Given the description of an element on the screen output the (x, y) to click on. 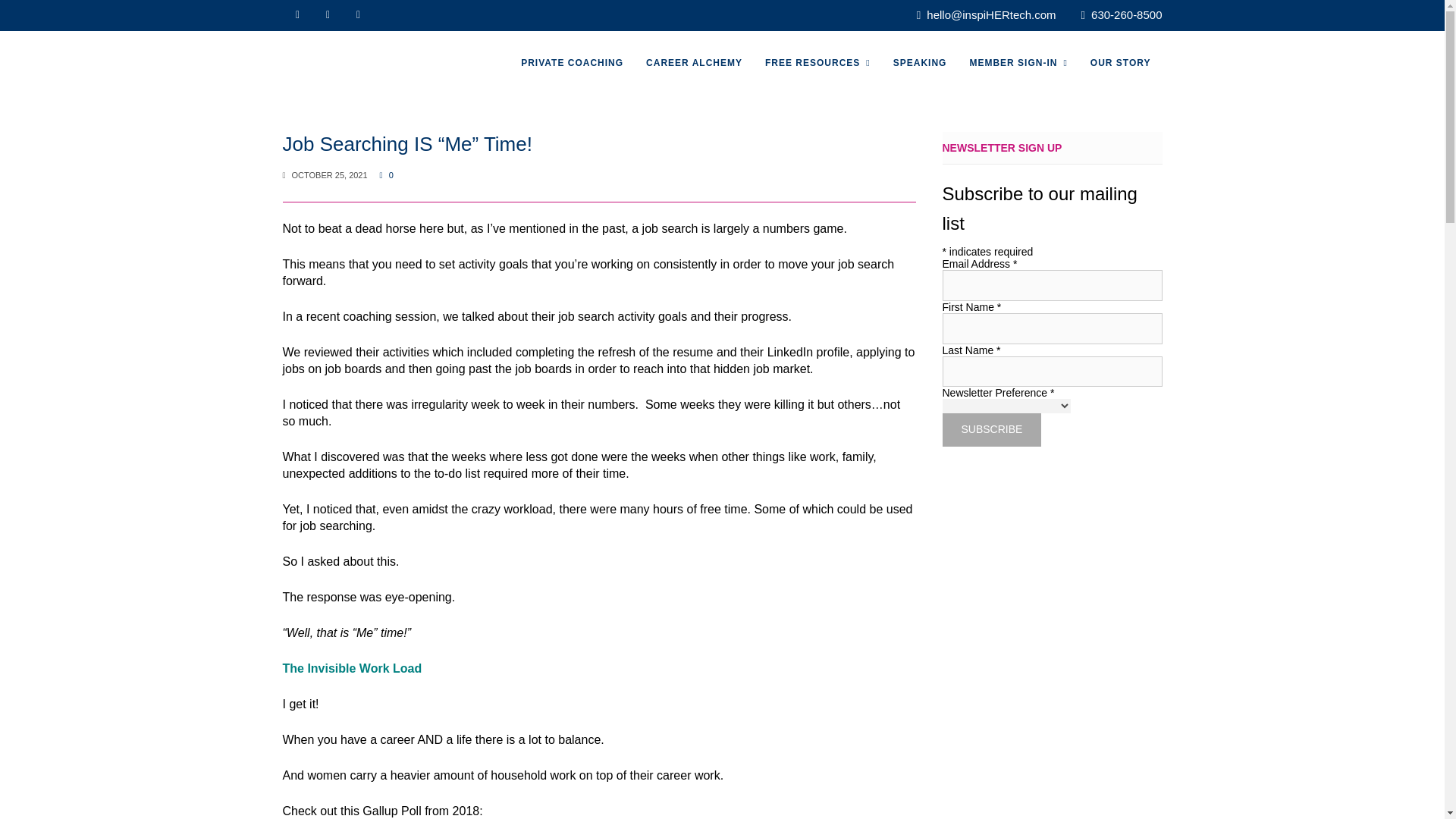
 Follow on LinkedIn (357, 15)
 Follow on Twitter (297, 15)
Subscribe (991, 429)
SPEAKING (920, 63)
0 (386, 174)
FREE RESOURCES (818, 63)
 Follow on Facebook (327, 15)
PRIVATE COACHING (571, 63)
CAREER ALCHEMY (694, 63)
OUR STORY (1119, 63)
MEMBER SIGN-IN (1018, 63)
